Given the description of an element on the screen output the (x, y) to click on. 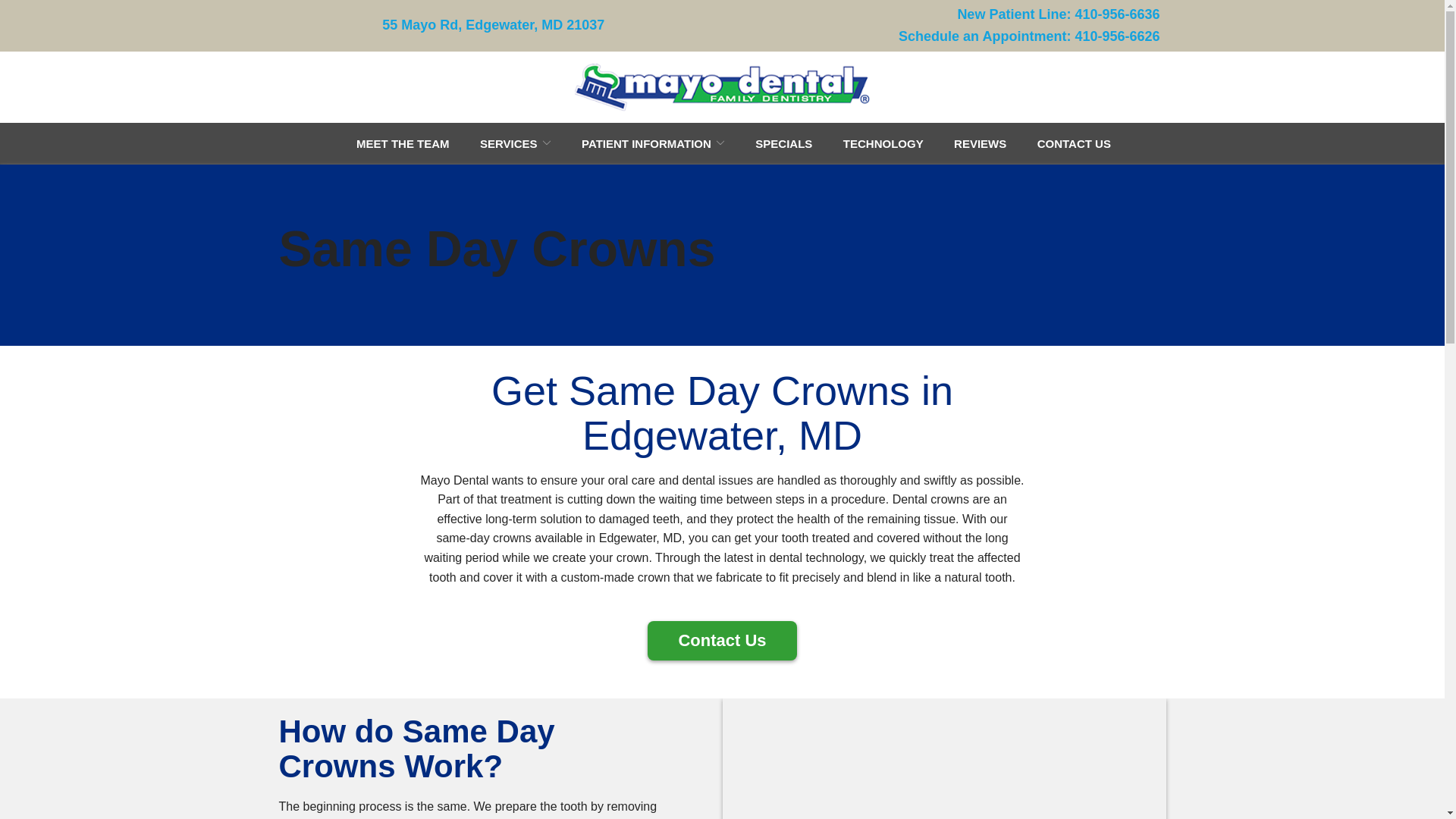
SERVICES (515, 143)
New Patient Line: 410-956-6636 (1057, 14)
Schedule an Appointment: 410-956-6626 (1028, 36)
55 Mayo Rd, Edgewater, MD 21037 (492, 25)
MEET THE TEAM (402, 143)
